Given the description of an element on the screen output the (x, y) to click on. 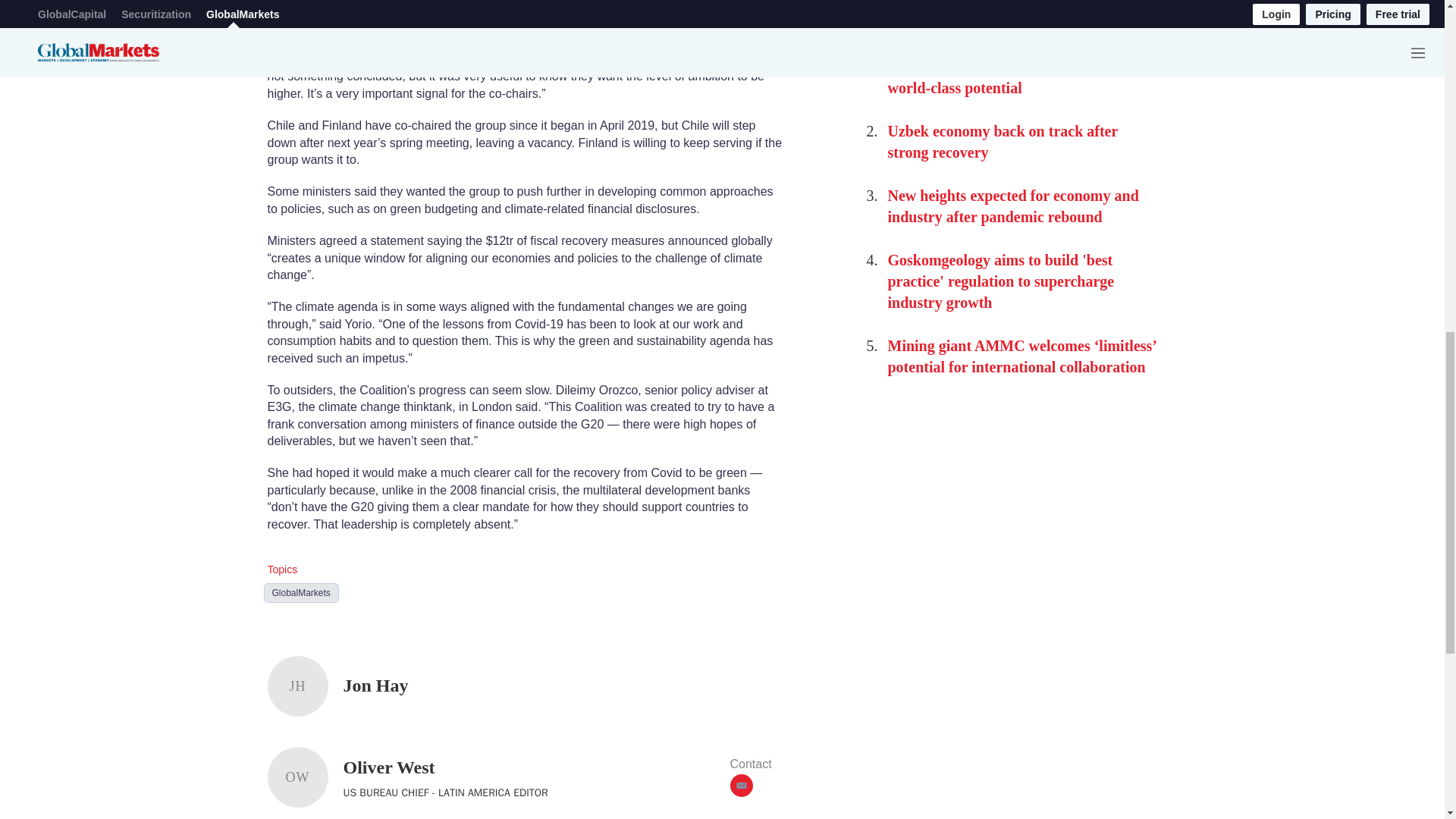
Reforms ready mining sector to reach world-class potential (1008, 77)
GlobalMarkets (301, 592)
email (740, 784)
Uzbek economy back on track after strong recovery (1001, 141)
